Given the description of an element on the screen output the (x, y) to click on. 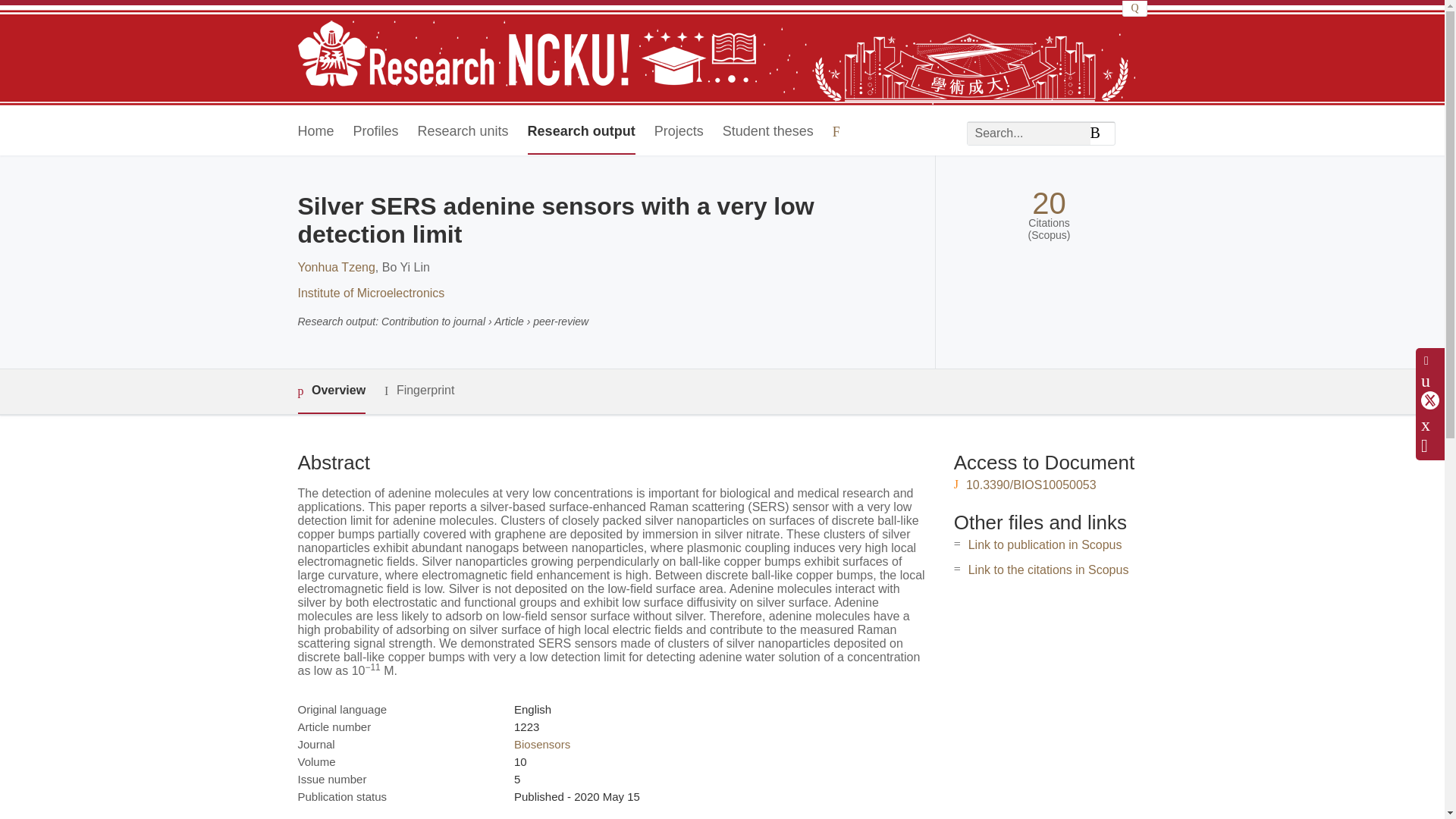
Institute of Microelectronics (370, 292)
Link to publication in Scopus (1045, 544)
Student theses (767, 131)
Research output (580, 131)
Yonhua Tzeng (335, 267)
20 (1048, 203)
Projects (678, 131)
Fingerprint (419, 390)
Biosensors (541, 744)
